Given the description of an element on the screen output the (x, y) to click on. 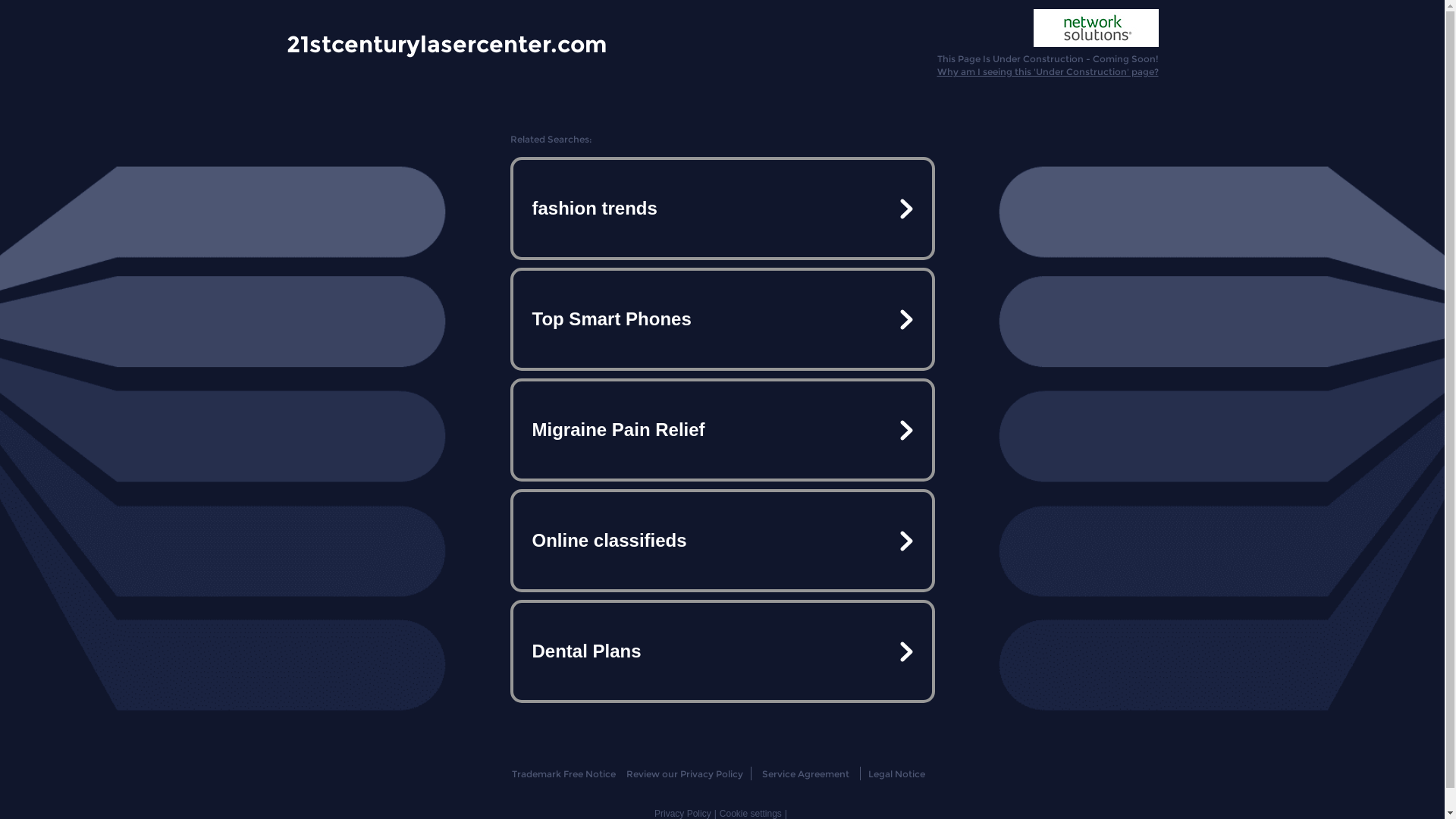
Why am I seeing this 'Under Construction' page? Element type: text (1047, 71)
21stcenturylasercenter.com Element type: text (446, 43)
Migraine Pain Relief Element type: text (721, 429)
Legal Notice Element type: text (896, 773)
fashion trends Element type: text (721, 208)
Service Agreement Element type: text (805, 773)
Review our Privacy Policy Element type: text (684, 773)
Trademark Free Notice Element type: text (563, 773)
Dental Plans Element type: text (721, 650)
Online classifieds Element type: text (721, 540)
Top Smart Phones Element type: text (721, 318)
